Given the description of an element on the screen output the (x, y) to click on. 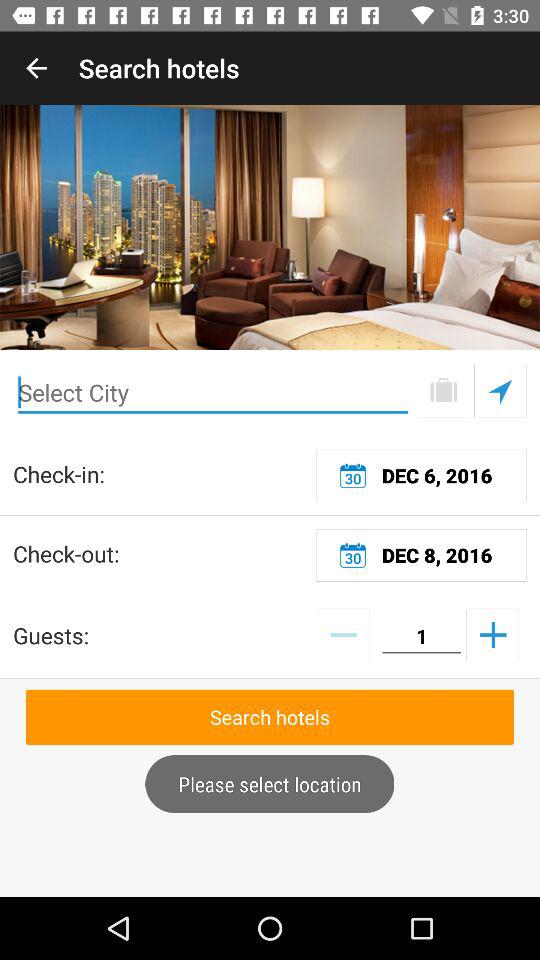
quentity plus option (492, 634)
